Given the description of an element on the screen output the (x, y) to click on. 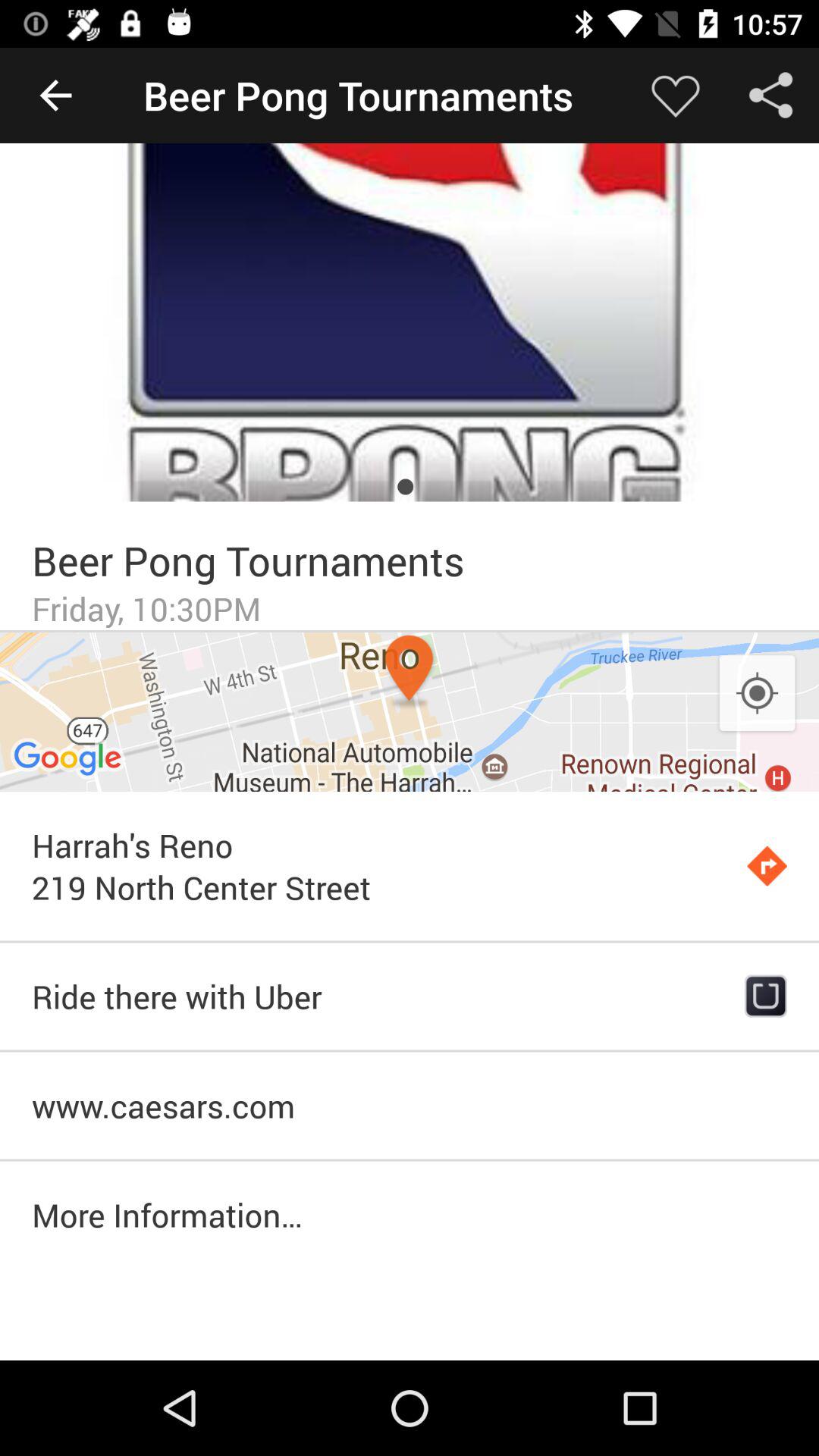
click item to the left of the beer pong tournaments (55, 95)
